Given the description of an element on the screen output the (x, y) to click on. 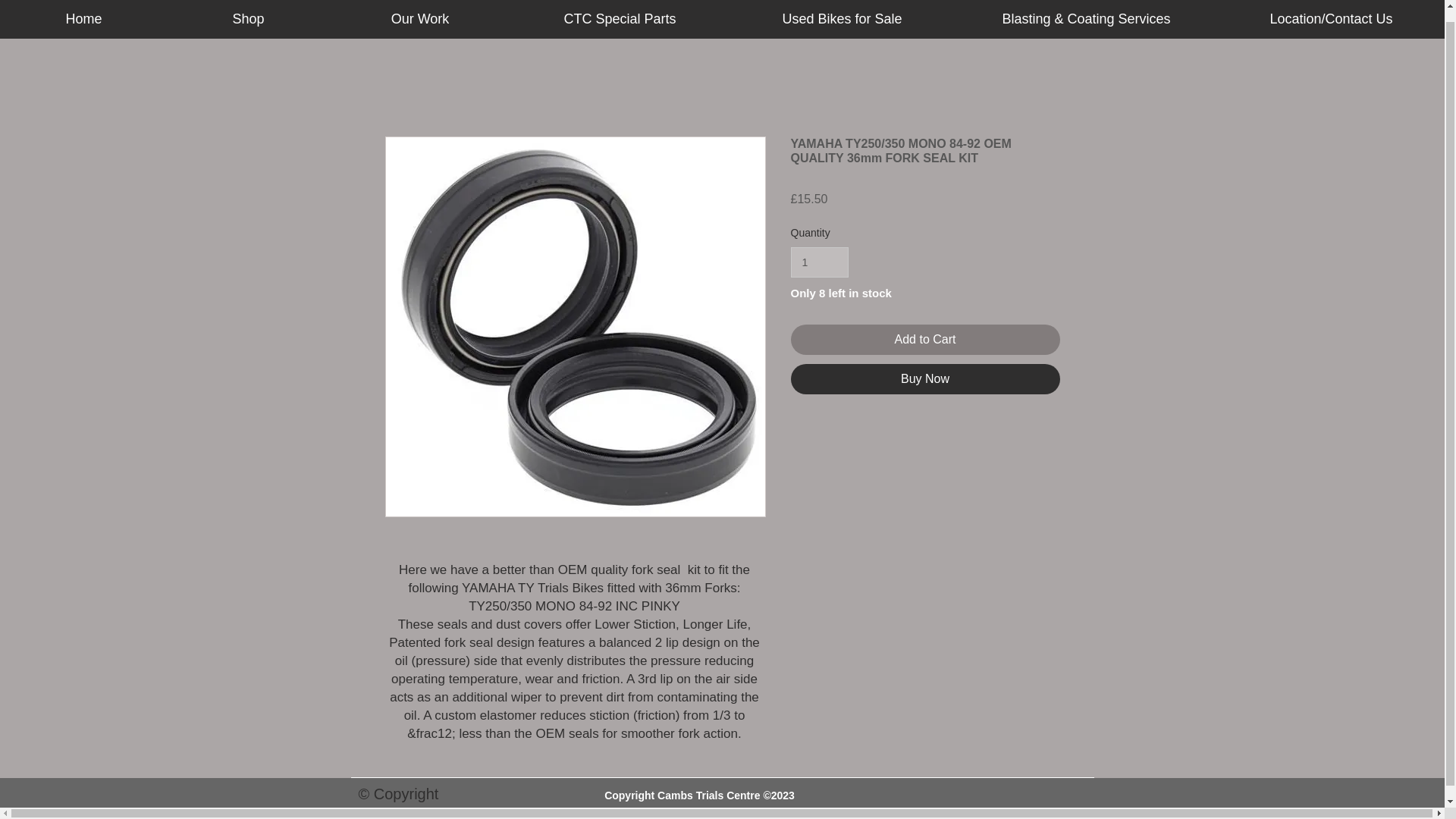
Shop (248, 13)
CTC Special Parts (620, 13)
Home (83, 13)
Used Bikes for Sale (842, 13)
Our Work (420, 13)
Add to Cart (924, 339)
1 (818, 262)
Buy Now (924, 378)
